Given the description of an element on the screen output the (x, y) to click on. 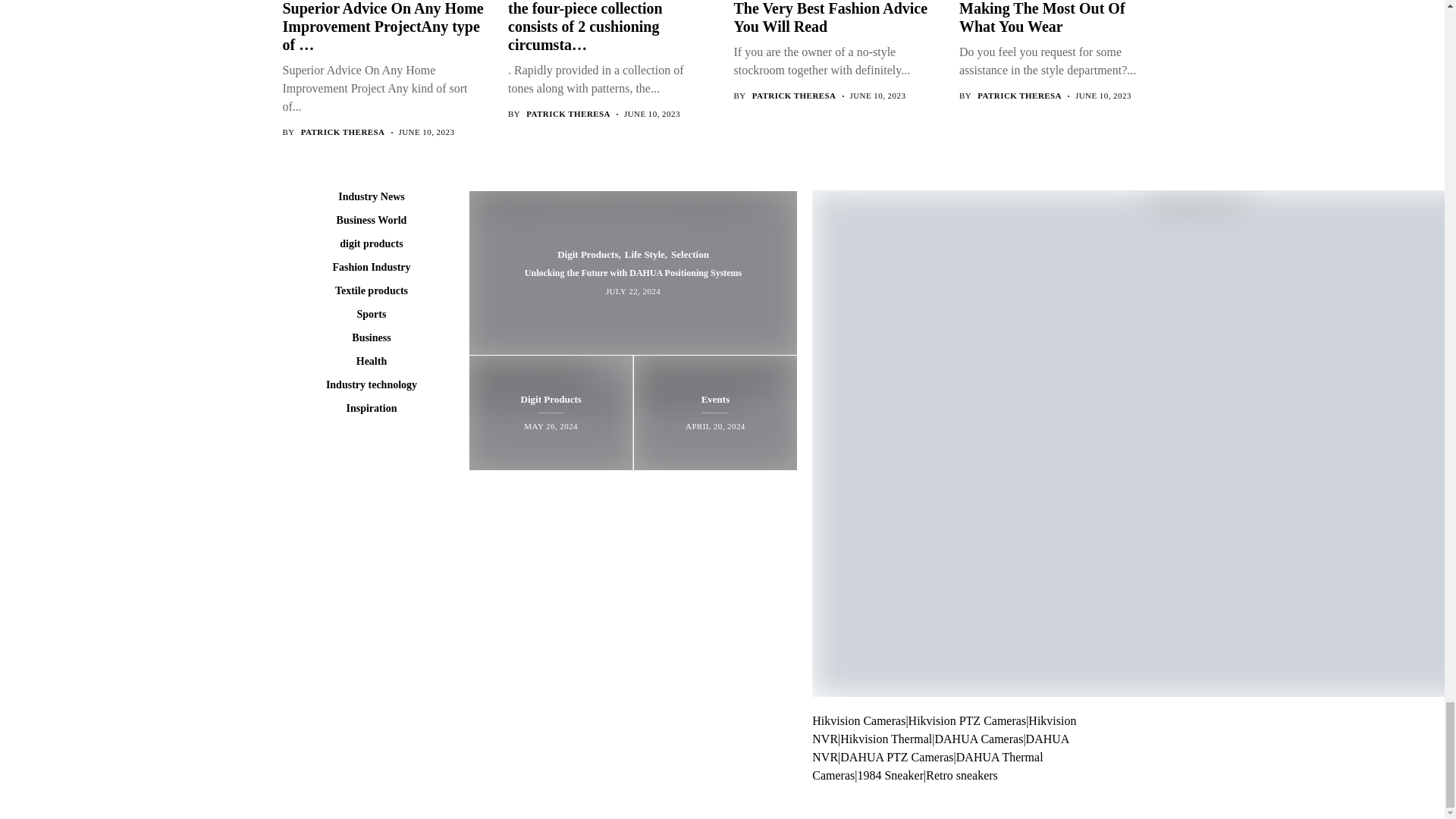
Posts by Patrick Theresa (793, 95)
Posts by Patrick Theresa (343, 132)
Posts by Patrick Theresa (567, 113)
Posts by Patrick Theresa (1018, 95)
